Given the description of an element on the screen output the (x, y) to click on. 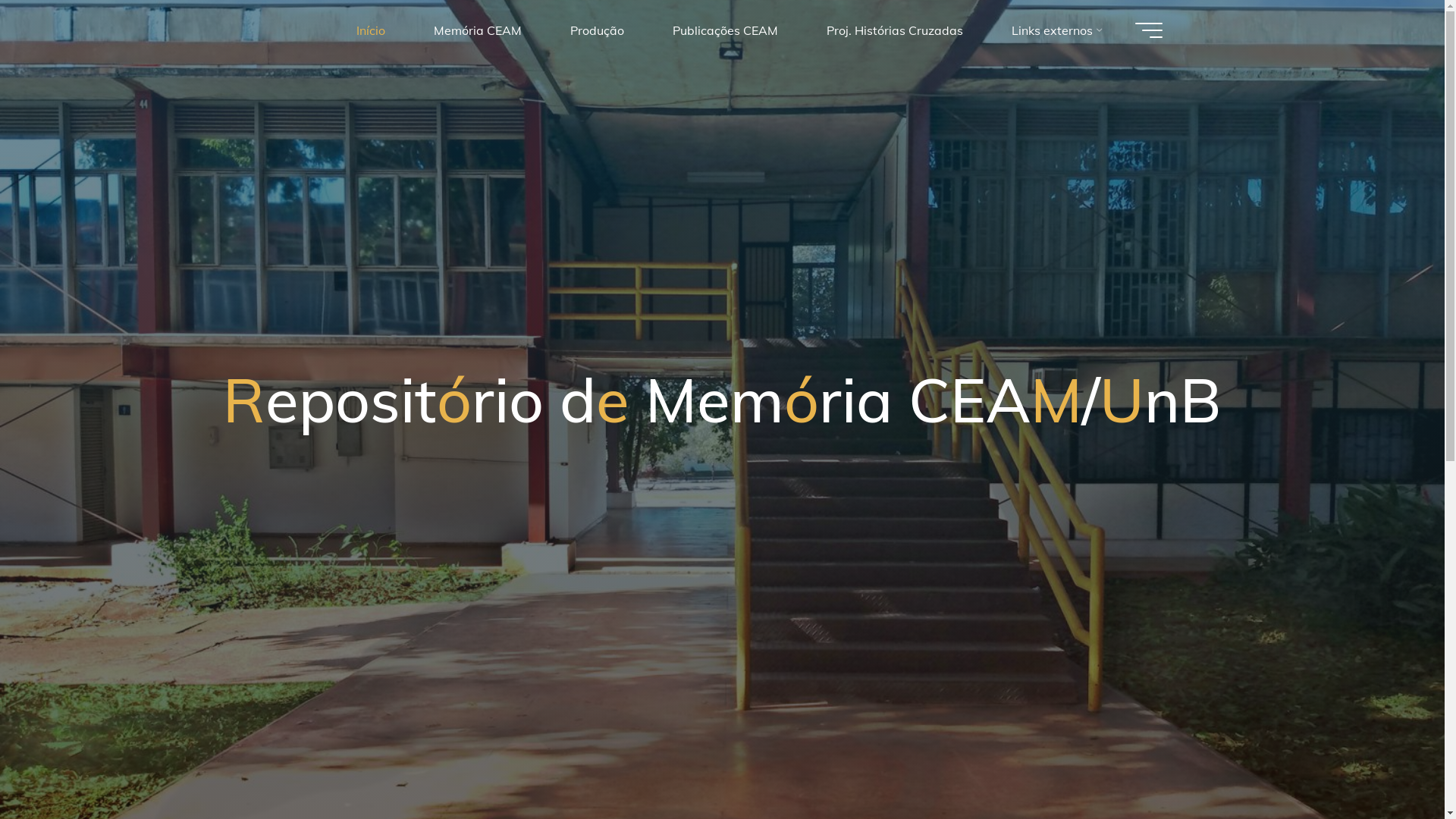
Ler mais Element type: hover (721, 726)
Links externos Element type: text (1055, 30)
